Given the description of an element on the screen output the (x, y) to click on. 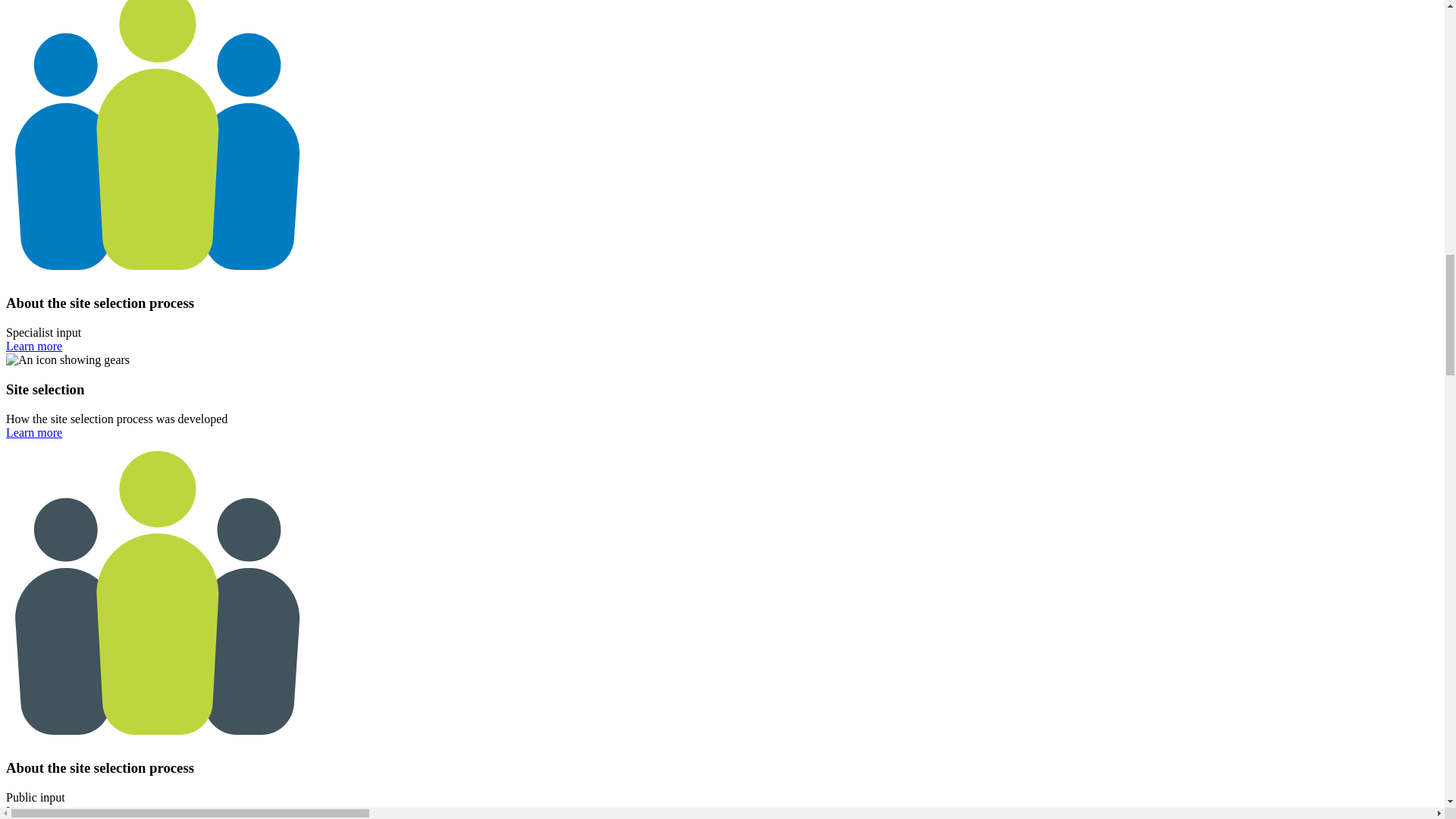
Learn more (33, 345)
Learn more (33, 810)
Learn more (33, 431)
